Given the description of an element on the screen output the (x, y) to click on. 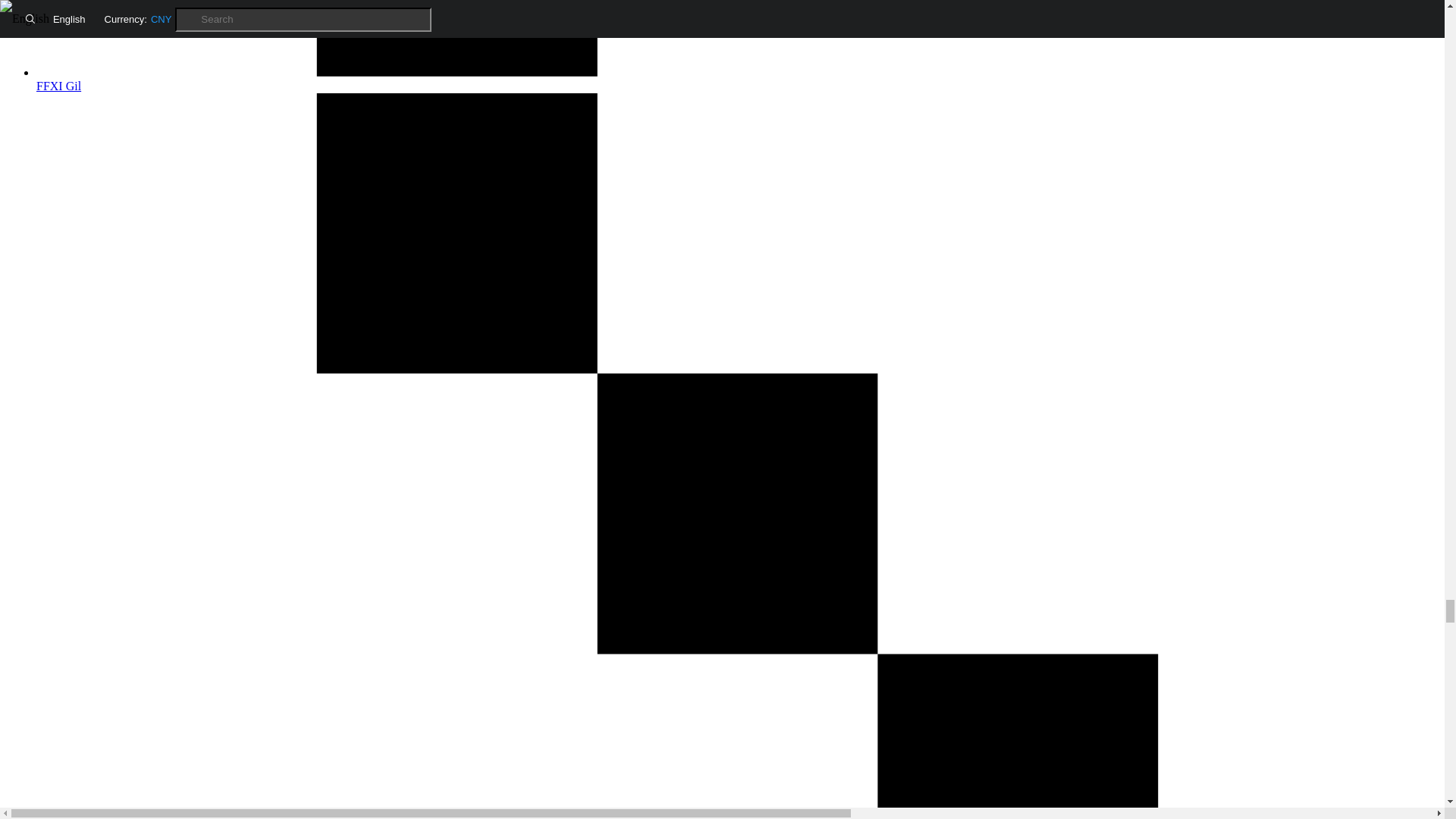
FFXI Gil (737, 79)
